Given the description of an element on the screen output the (x, y) to click on. 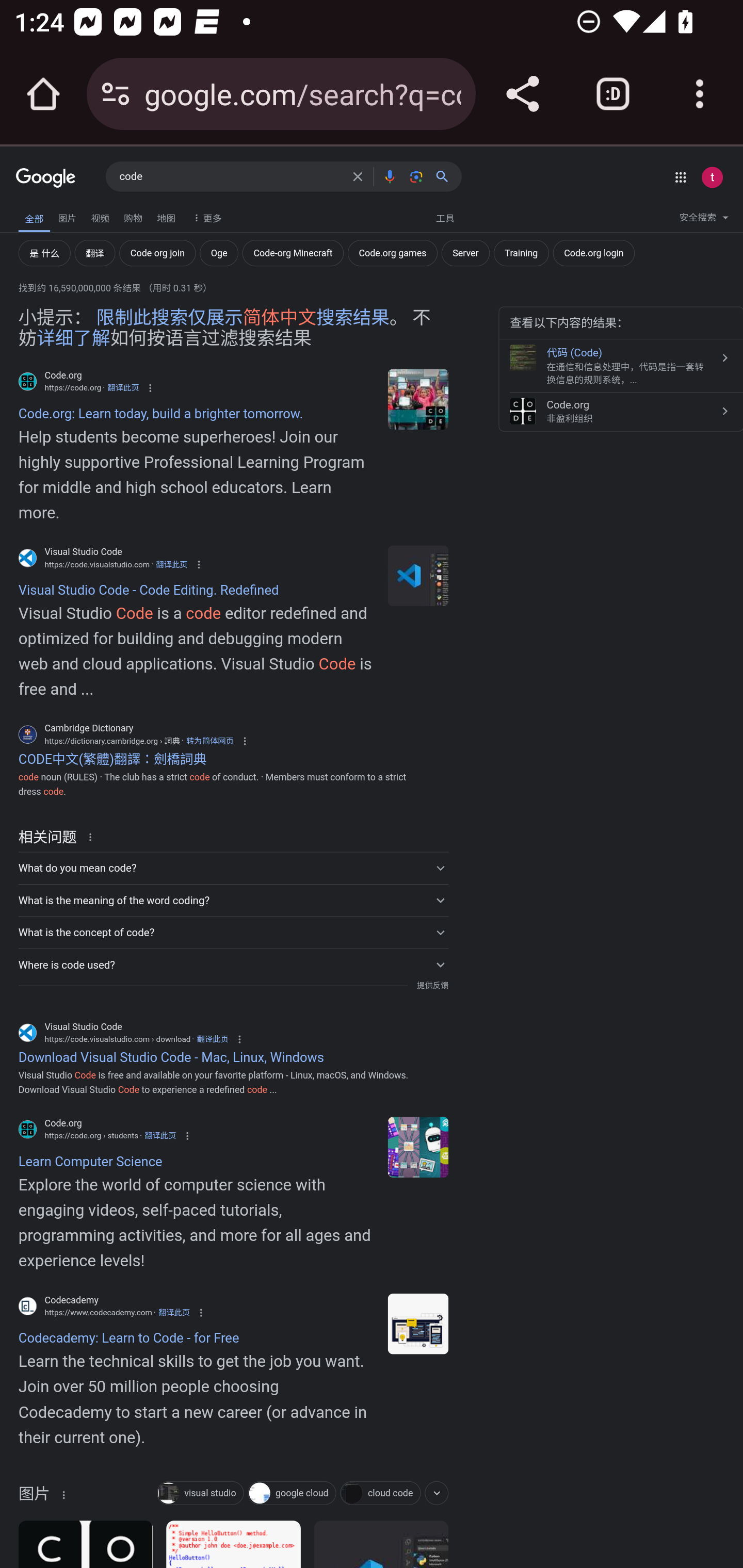
Open the home page (43, 93)
Connection is secure (115, 93)
Share (522, 93)
Switch or close tabs (612, 93)
Customize and control Google Chrome (699, 93)
清除 (357, 176)
按语音搜索 (389, 176)
按图搜索 (415, 176)
搜索 (446, 176)
Google 应用 (680, 176)
Google 账号： test appium (testappium002@gmail.com) (712, 176)
Google (45, 178)
code (229, 177)
无障碍功能反馈 (42, 212)
图片 (67, 216)
视频 (99, 216)
购物 (133, 216)
地图 (166, 216)
更多 (205, 216)
安全搜索 (703, 219)
工具 (444, 216)
添加“是 什么” 是 什么 (44, 252)
添加“翻译” 翻译 (94, 252)
添加“Code org join” Code org join (157, 252)
添加“Oge” Oge (218, 252)
添加“Code-org Minecraft” Code-org Minecraft (293, 252)
添加“Code.org games” Code.org games (391, 252)
添加“Server” Server (465, 252)
添加“Training” Training (521, 252)
添加“Code.org login” Code.org login (593, 252)
限制此搜索仅展示简体中文搜索结果 限制此搜索仅展示 简体中文 搜索结果 (242, 316)
详细了解 (73, 338)
code (417, 398)
翻译此页 (122, 387)
code.visualstudio (417, 575)
翻译此页 (171, 564)
转为简体网页 (209, 740)
关于这条结果的详细信息 (93, 836)
What do you mean code? (232, 867)
What is the meaning of the word coding? (232, 899)
What is the concept of code? (232, 931)
Where is code used? (232, 964)
提供反馈 (432, 985)
翻译此页 (212, 1039)
students (417, 1146)
翻译此页 (160, 1135)
www.codecademy (417, 1322)
翻译此页 (173, 1312)
图片 (33, 1497)
visual studio (200, 1493)
google cloud (291, 1493)
cloud code (379, 1493)
按功能过滤 (436, 1492)
关于这条结果的详细信息 (62, 1494)
